Given the description of an element on the screen output the (x, y) to click on. 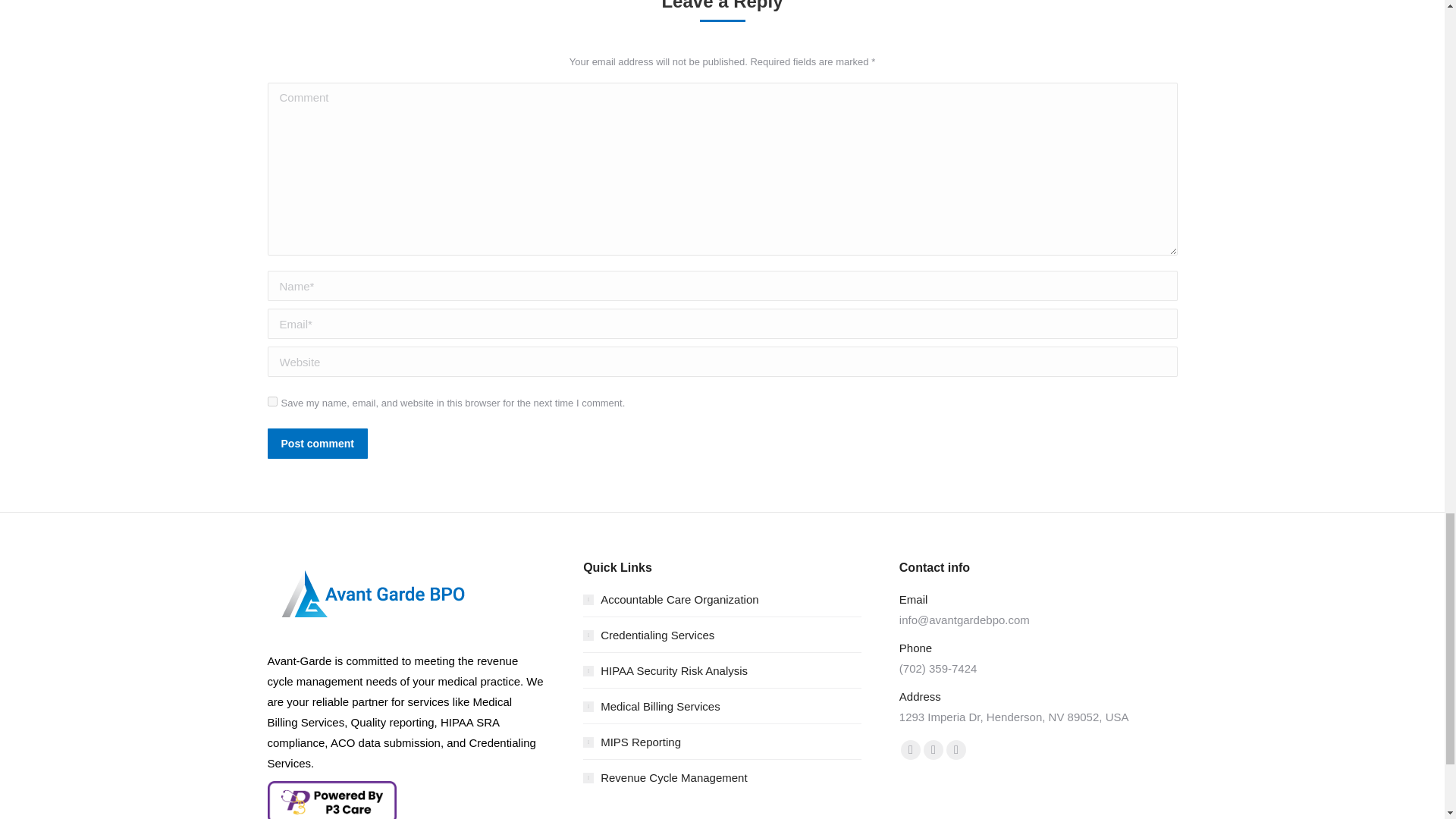
yes (271, 401)
